Given the description of an element on the screen output the (x, y) to click on. 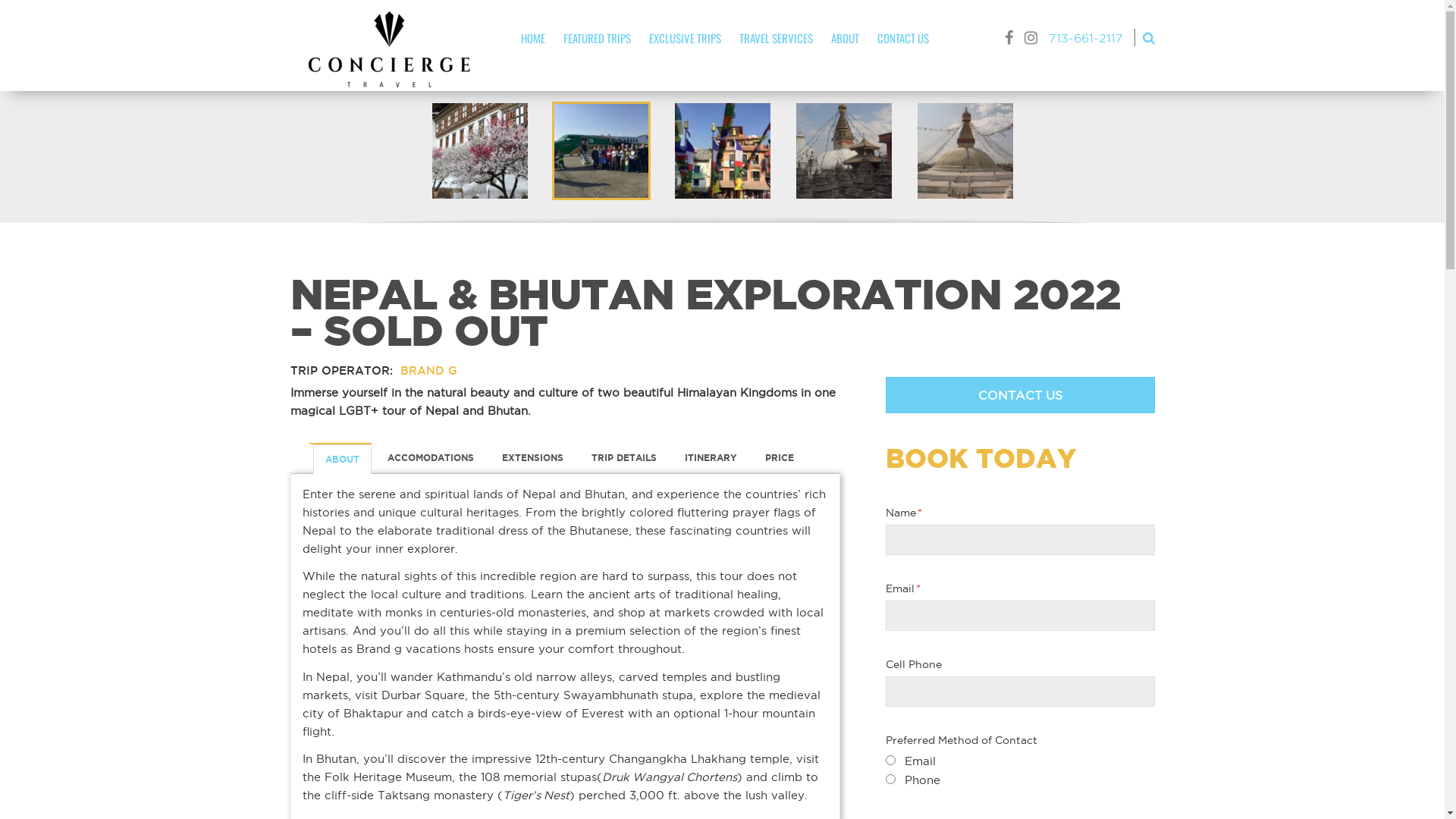
Instagram Element type: hover (1030, 37)
TRIP DETAILS Element type: text (623, 457)
CONTACT US Element type: text (903, 38)
EXTENSIONS Element type: text (532, 457)
Facebook Element type: hover (1008, 37)
TRAVEL SERVICES Element type: text (776, 38)
FEATURED TRIPS Element type: text (597, 38)
PRICE Element type: text (778, 457)
Concierge Travel Element type: hover (389, 49)
713-661-2117 Element type: text (1085, 37)
EXCLUSIVE TRIPS Element type: text (685, 38)
HOME Element type: text (532, 38)
ABOUT Element type: text (341, 458)
ACCOMODATIONS Element type: text (429, 457)
ITINERARY Element type: text (709, 457)
CONTACT US Element type: text (1019, 394)
BRAND G Element type: text (425, 370)
ABOUT Element type: text (845, 38)
